Given the description of an element on the screen output the (x, y) to click on. 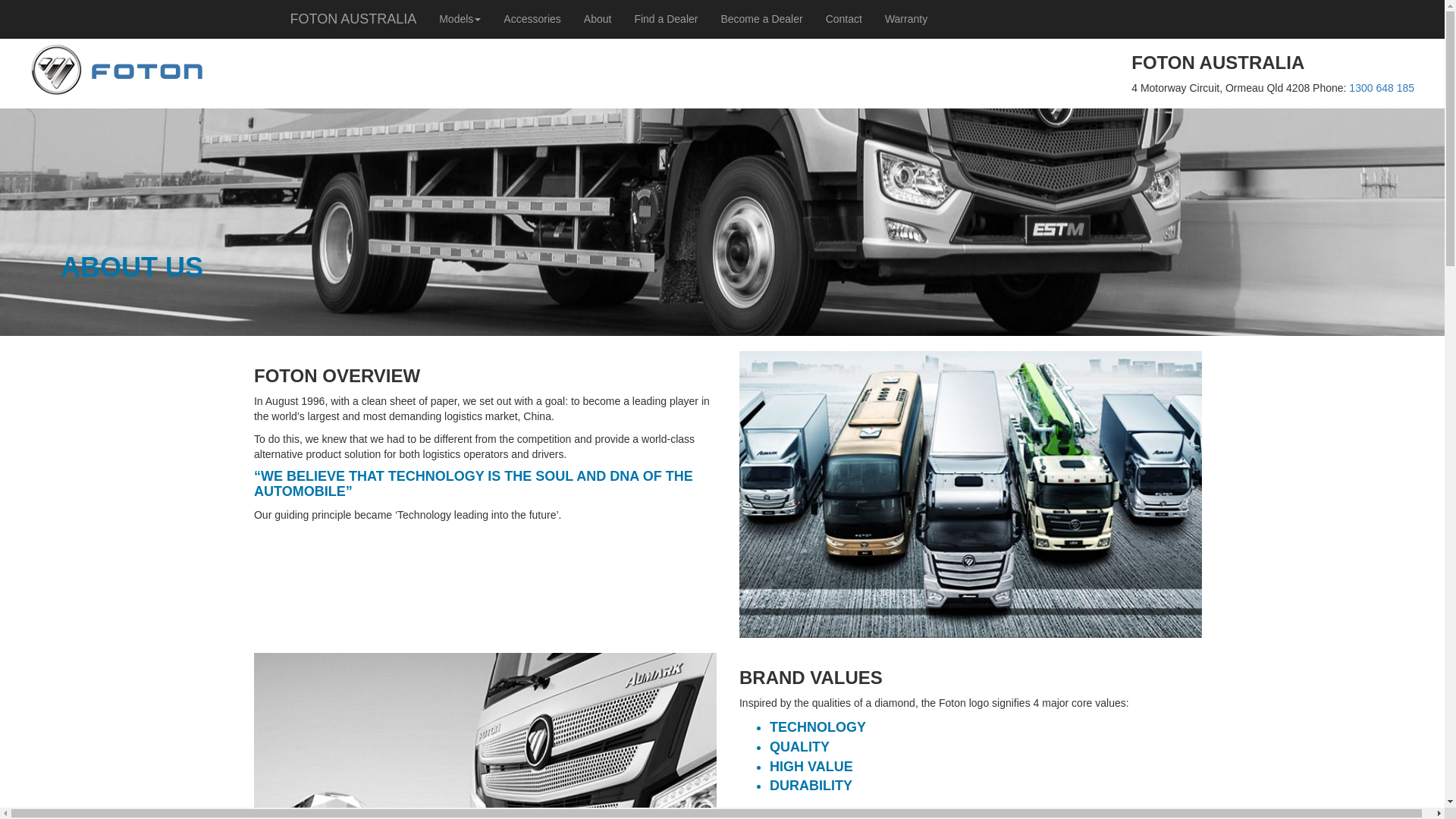
Foton Vehicles Element type: hover (117, 70)
Contact Element type: text (843, 18)
Accessories Element type: text (531, 18)
1300 648 185 Element type: text (1381, 87)
Become a Dealer Element type: text (761, 18)
Warranty Element type: text (905, 18)
Find a Dealer Element type: text (665, 18)
FOTON AUSTRALIA Element type: text (353, 18)
Models Element type: text (459, 18)
About Element type: text (597, 18)
